Given the description of an element on the screen output the (x, y) to click on. 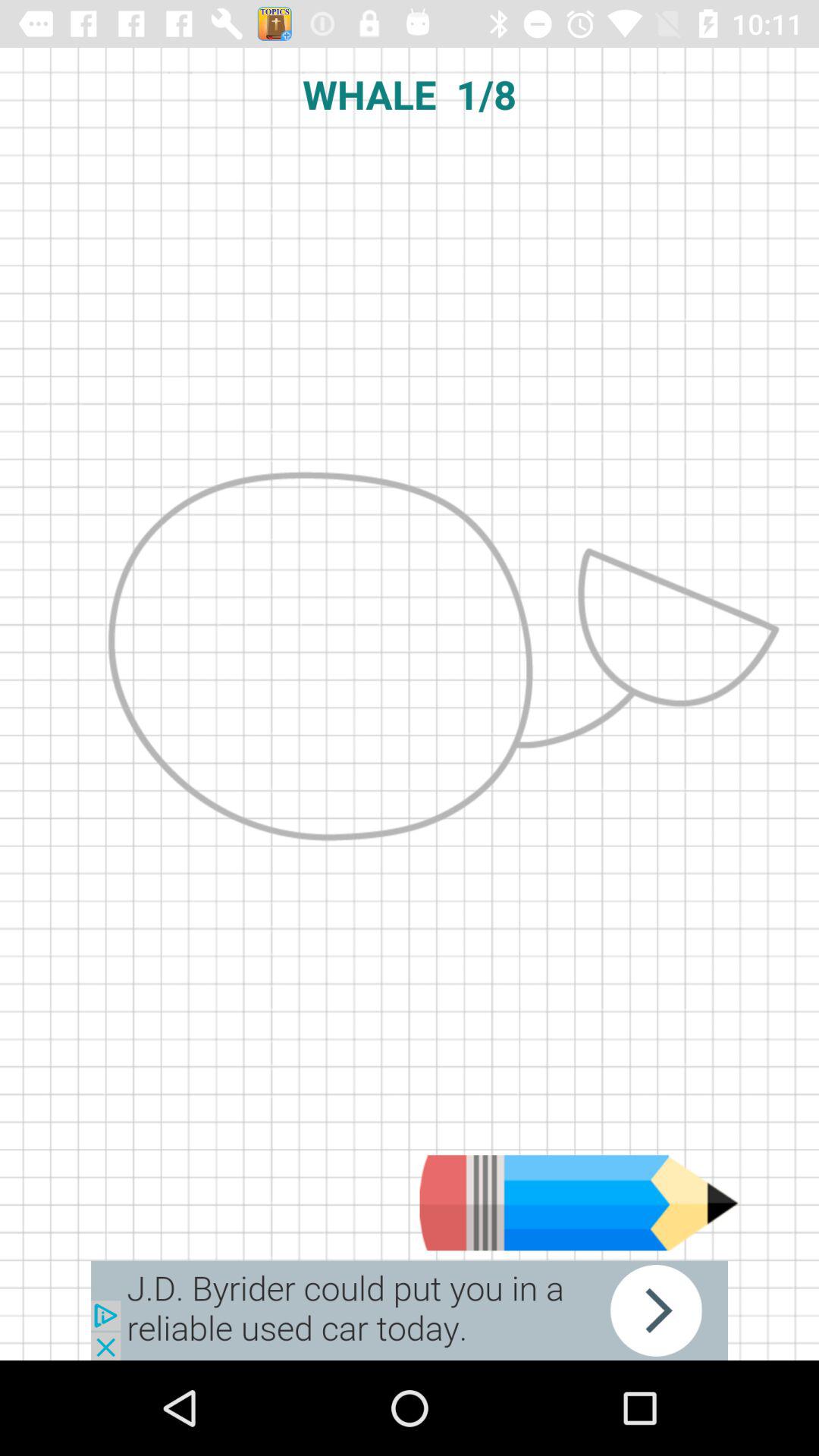
advertiser banner (409, 1310)
